Given the description of an element on the screen output the (x, y) to click on. 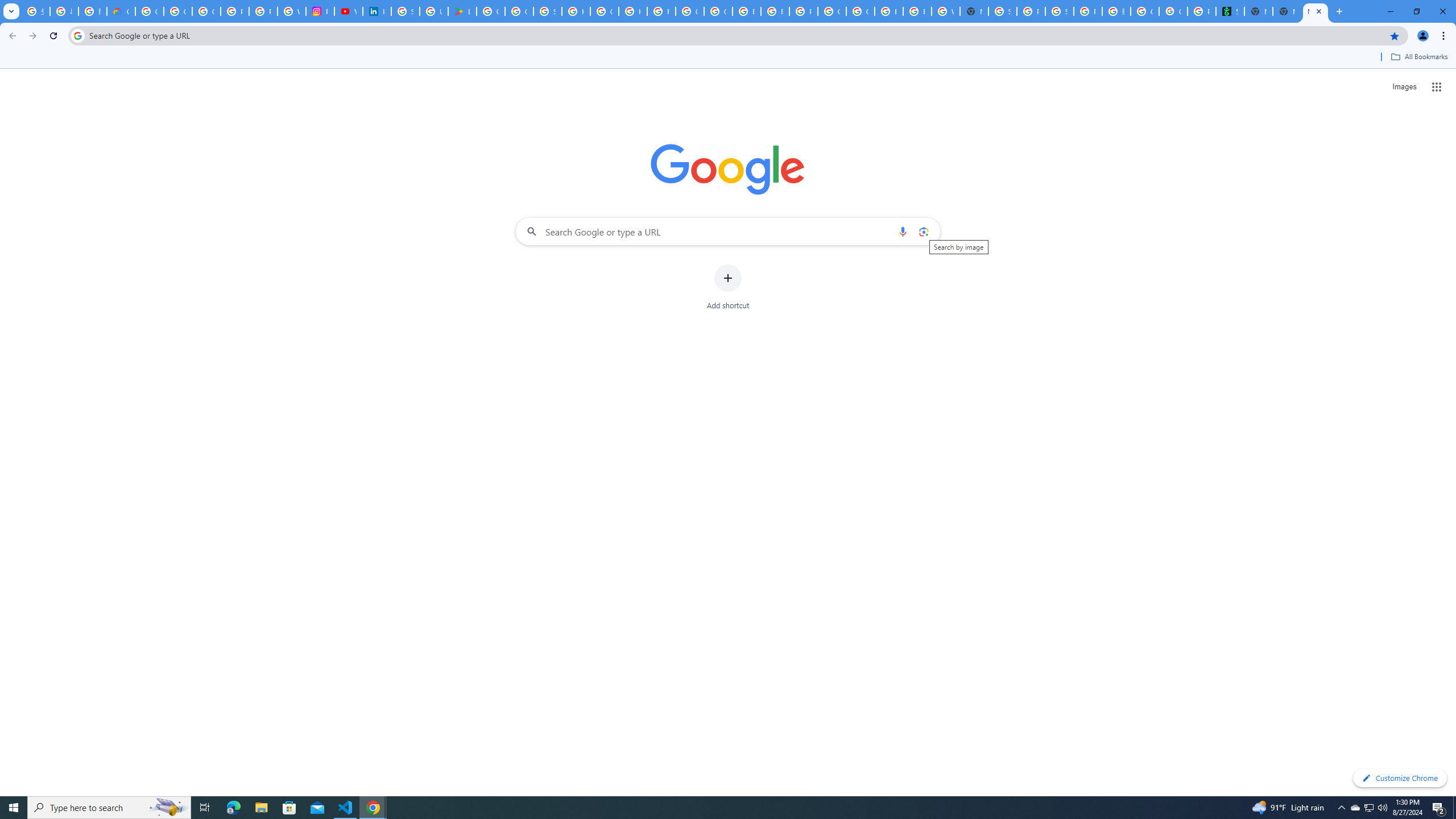
Browse Chrome as a guest - Computer - Google Chrome Help (917, 11)
How do I create a new Google Account? - Google Account Help (632, 11)
Google Cloud Platform (831, 11)
Google Cloud Platform (860, 11)
Bookmarks (728, 58)
Sign in - Google Accounts (405, 11)
